Given the description of an element on the screen output the (x, y) to click on. 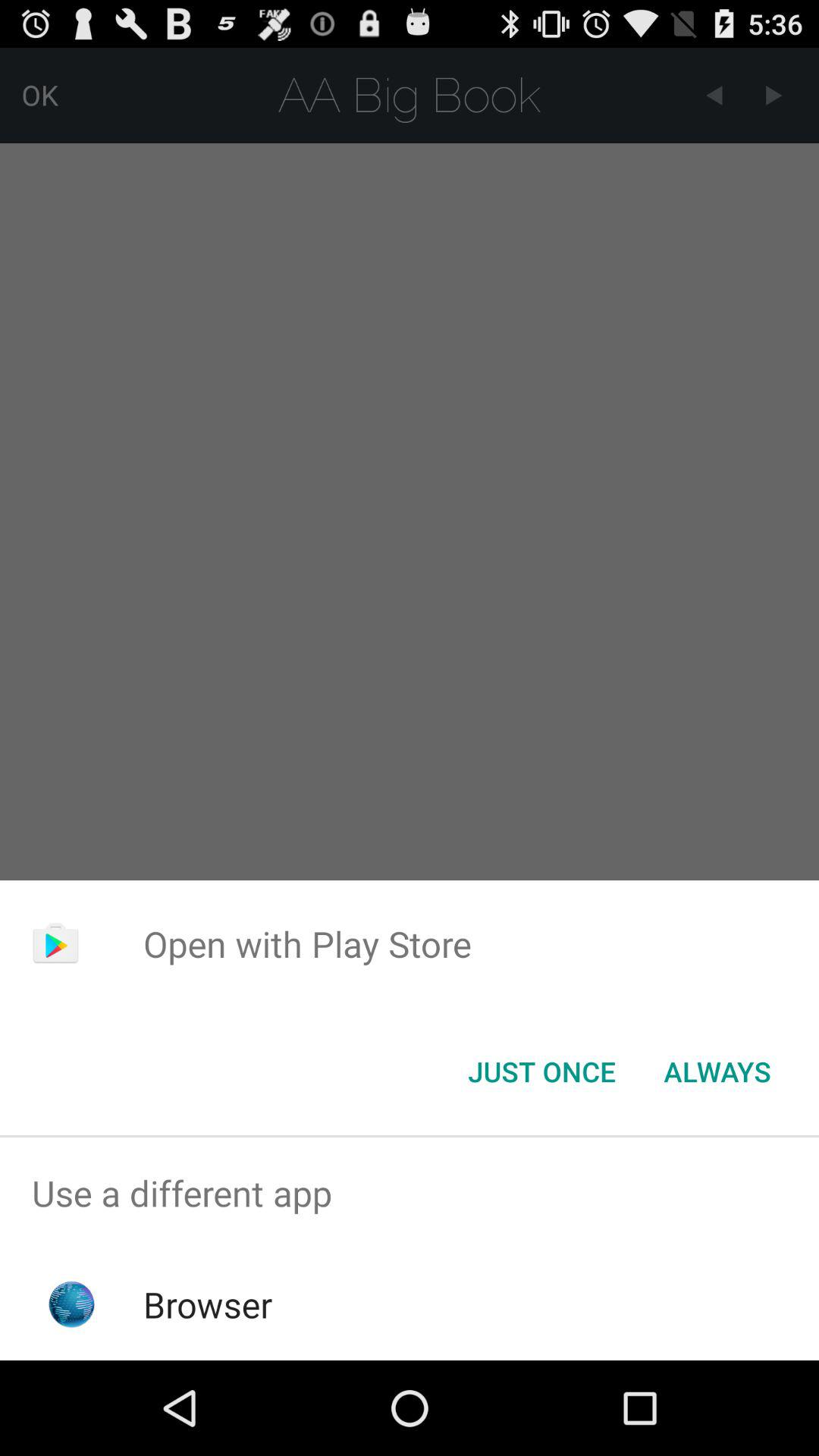
select the use a different (409, 1192)
